Given the description of an element on the screen output the (x, y) to click on. 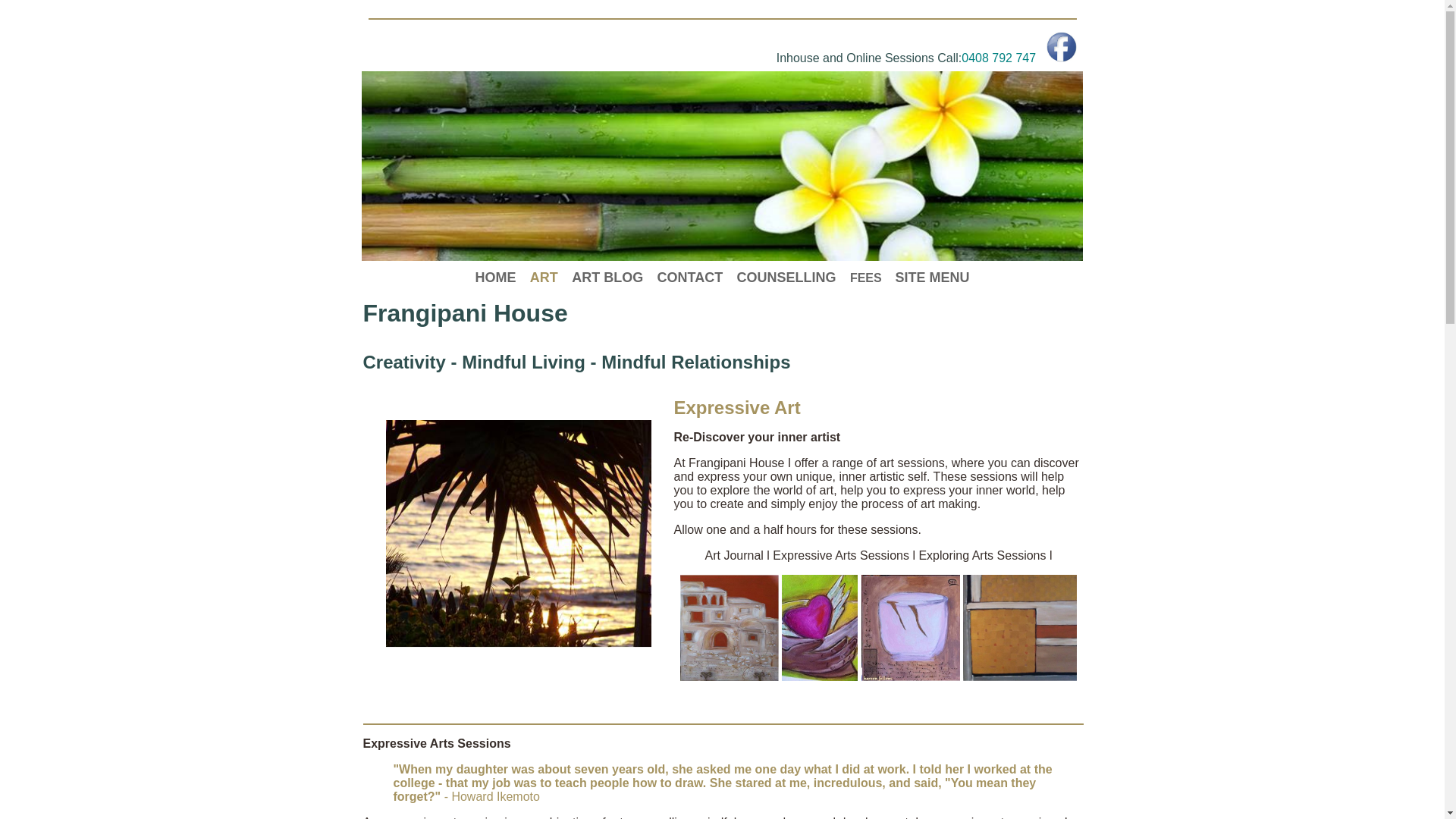
Exploring Arts Sessions Element type: text (981, 555)
SITE MENU Element type: text (932, 275)
ART Element type: text (544, 275)
CONTACT Element type: text (690, 275)
COUNSELLING Element type: text (786, 275)
Expressive Arts Sessions Element type: text (840, 555)
Art Journal Element type: text (734, 555)
ART BLOG Element type: text (607, 275)
FEES Element type: text (865, 275)
HOME Element type: text (494, 277)
0408 792 747 Element type: text (998, 57)
Expressive Art Element type: text (736, 409)
